Given the description of an element on the screen output the (x, y) to click on. 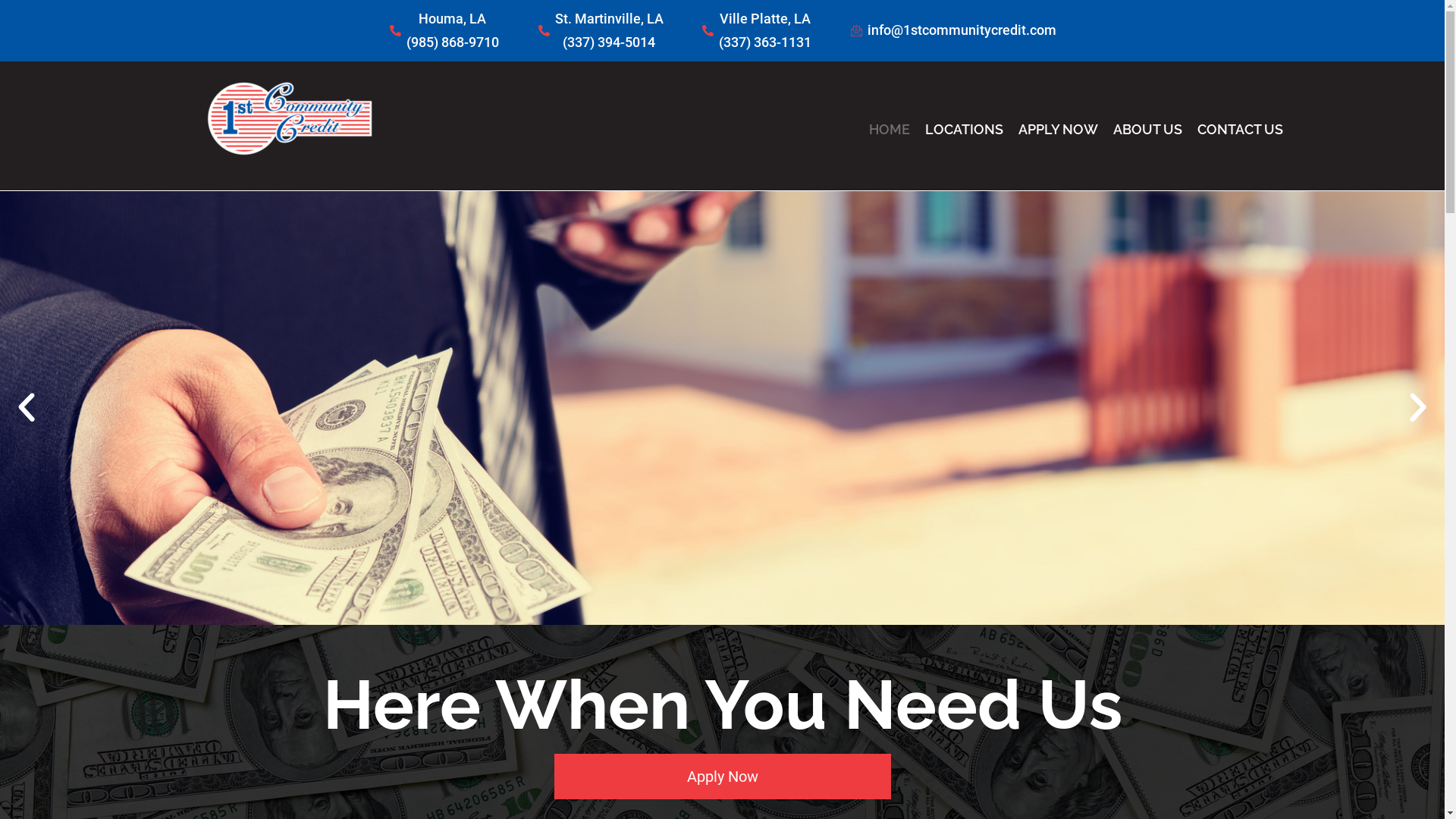
APPLY NOW Element type: text (1050, 129)
Apply Now Element type: text (721, 776)
Houma, LA
(985) 868-9710 Element type: text (443, 30)
LOCATIONS Element type: text (956, 129)
info@1stcommunitycredit.com Element type: text (952, 30)
ABOUT US Element type: text (1140, 129)
St. Martinville, LA
(337) 394-5014 Element type: text (599, 30)
HOME Element type: text (881, 129)
CONTACT US Element type: text (1232, 129)
Ville Platte, LA
(337) 363-1131 Element type: text (755, 30)
